Given the description of an element on the screen output the (x, y) to click on. 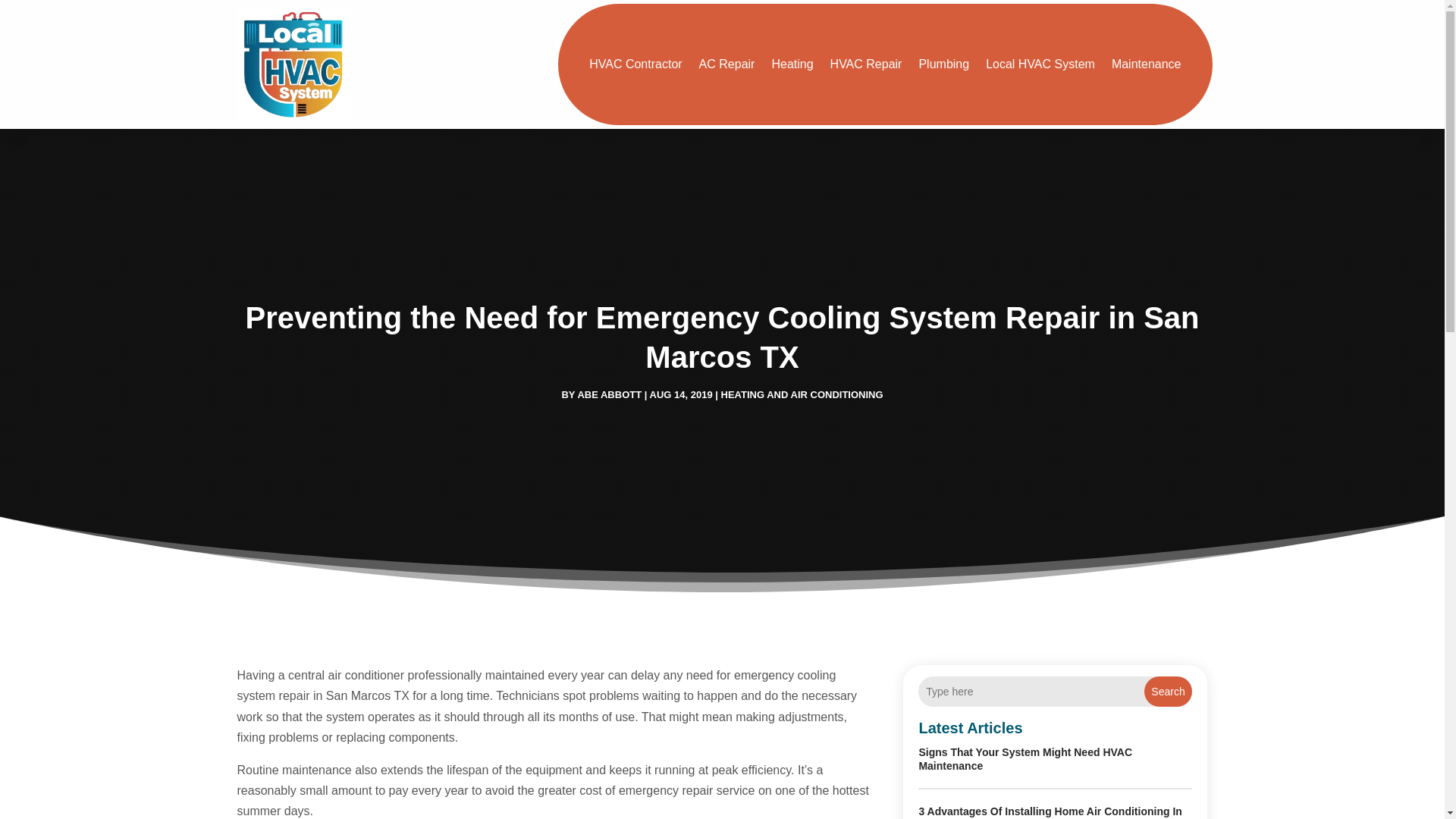
Signs That Your System Might Need HVAC Maintenance (1025, 759)
Local HVAC System (1039, 64)
HEATING AND AIR CONDITIONING (801, 393)
ABE ABBOTT (609, 393)
Search (1168, 691)
Posts by Abe Abbott (609, 393)
